Given the description of an element on the screen output the (x, y) to click on. 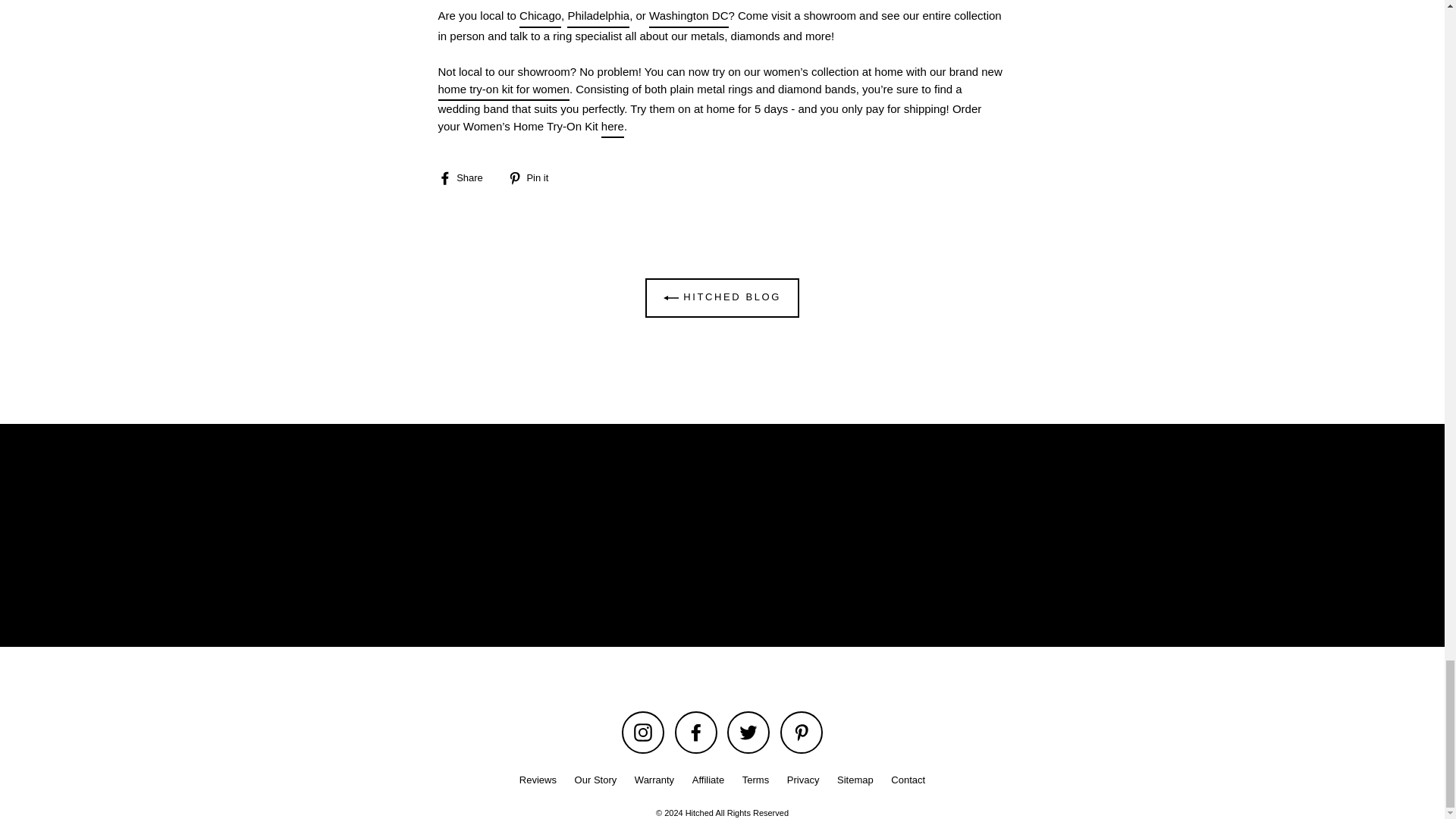
Hitched on Pinterest (801, 732)
Hitched on Facebook (696, 732)
Hitched on Twitter (748, 732)
Hitched on Instagram (642, 732)
Share on Facebook (466, 177)
Pin on Pinterest (534, 177)
washington dc jewelry store (689, 17)
